Given the description of an element on the screen output the (x, y) to click on. 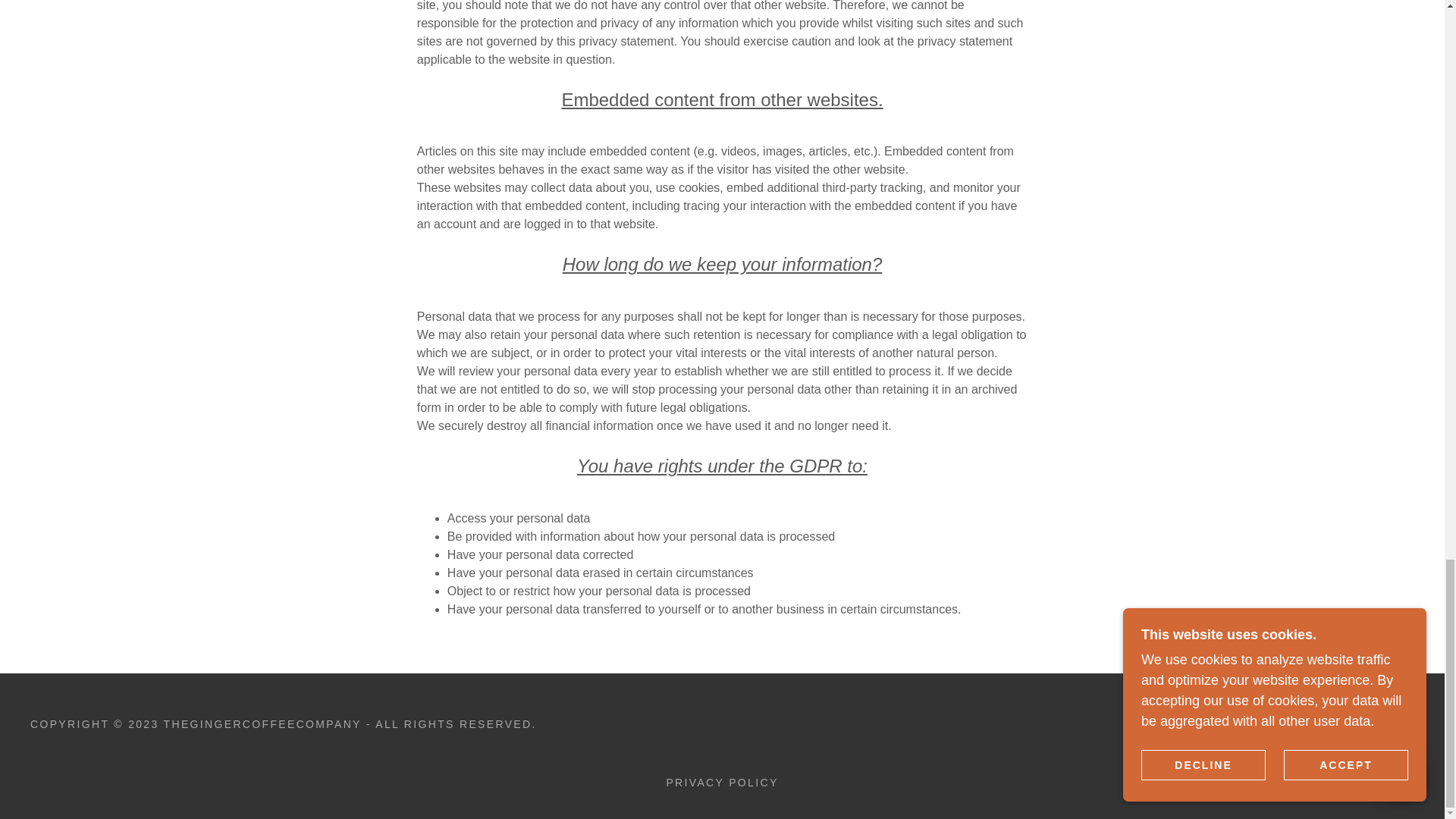
PRIVACY POLICY (721, 782)
